Given the description of an element on the screen output the (x, y) to click on. 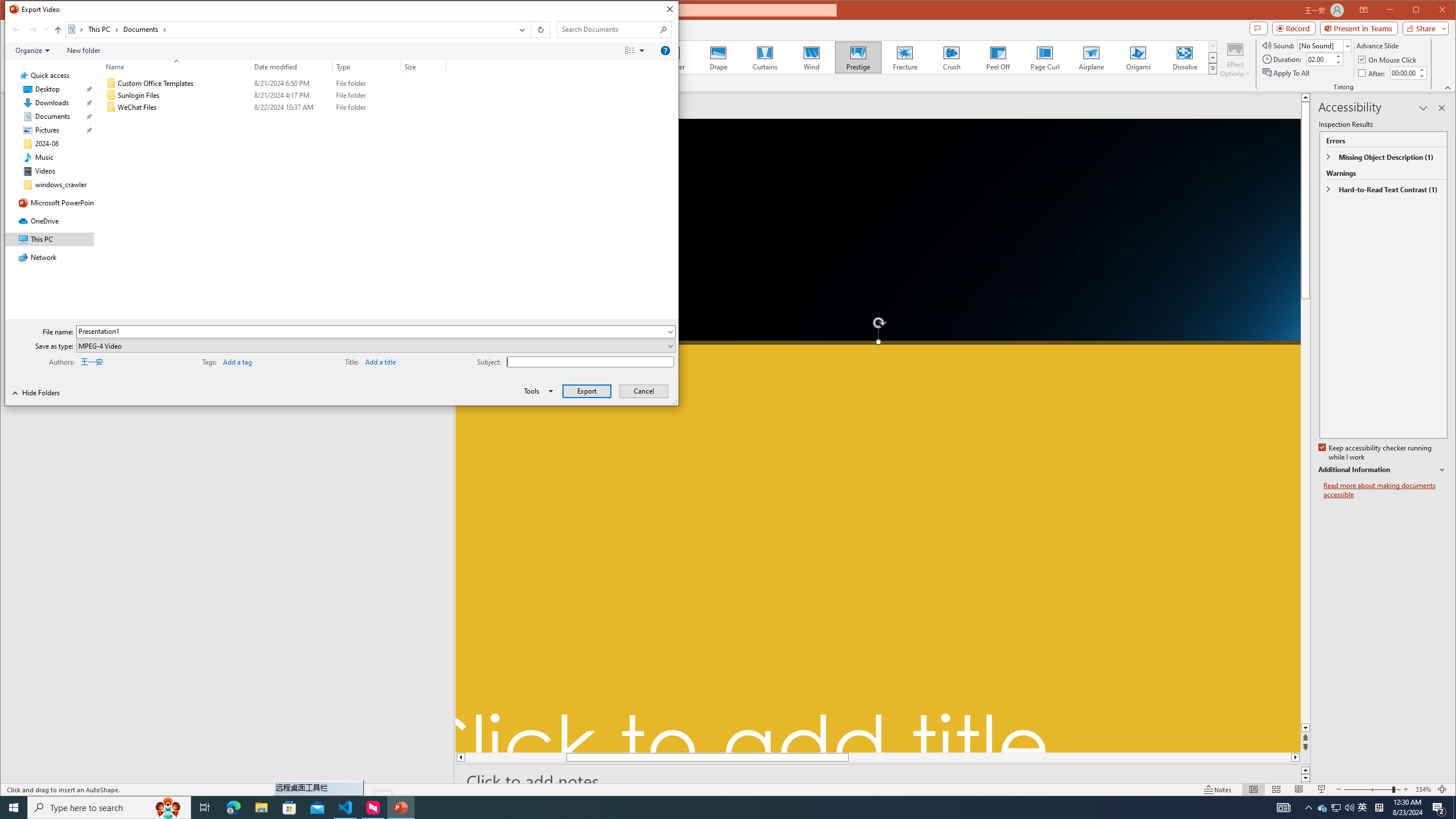
Authors (116, 361)
Effect Options (1235, 59)
Drape (717, 57)
Subject: (589, 361)
Transition Effects (1212, 68)
Views (636, 50)
Zoom 334% (1422, 789)
